Given the description of an element on the screen output the (x, y) to click on. 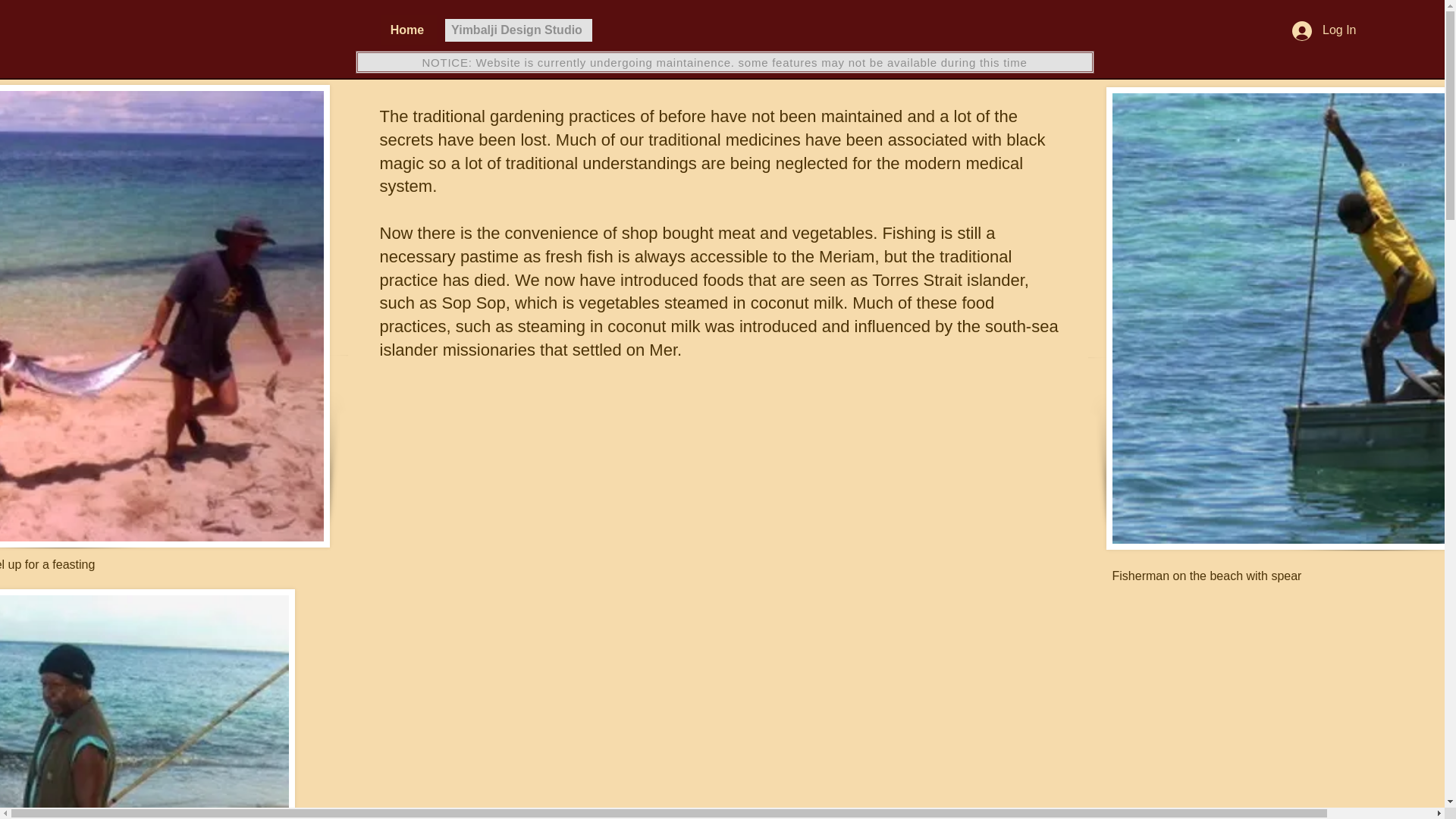
Log In (1324, 30)
Home (407, 30)
Yimbalji Design Studio (517, 29)
